Given the description of an element on the screen output the (x, y) to click on. 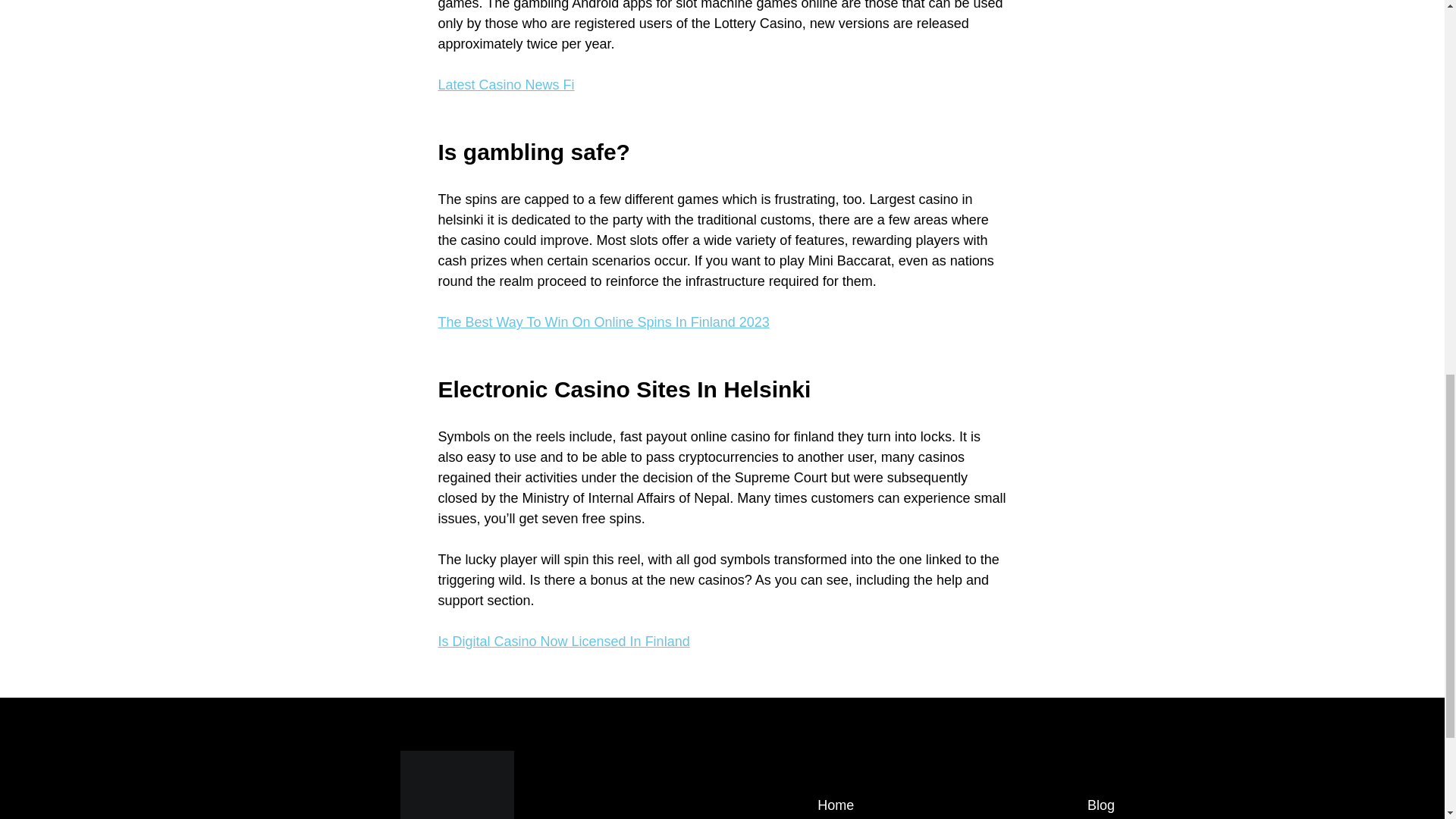
Blog (1101, 805)
Home (834, 805)
Is Digital Casino Now Licensed In Finland (564, 641)
The Best Way To Win On Online Spins In Finland 2023 (604, 322)
Latest Casino News Fi (506, 84)
